Given the description of an element on the screen output the (x, y) to click on. 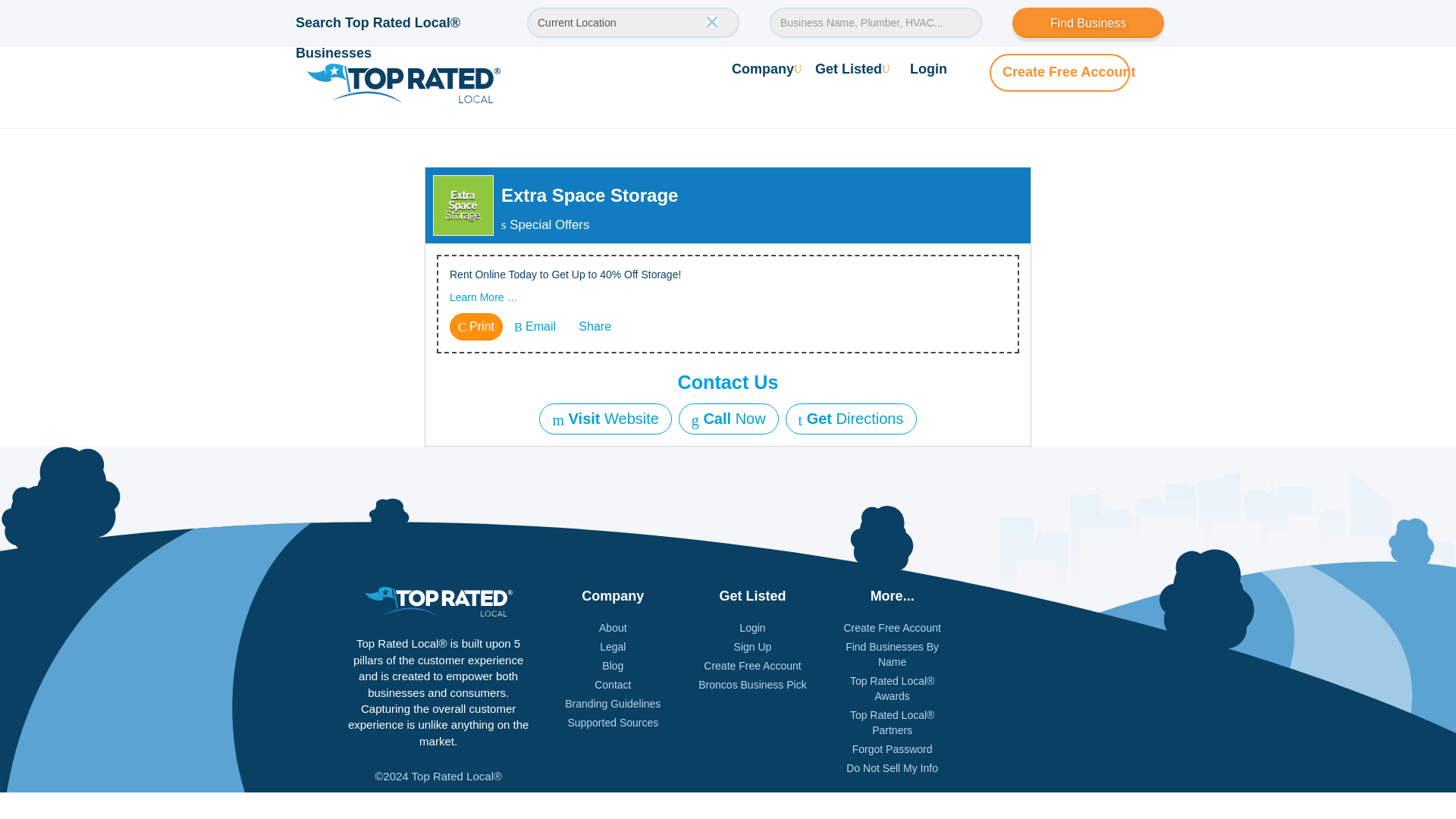
Email (534, 326)
Login (928, 68)
Current Location (633, 22)
Visit Website (604, 418)
Create Free Account (1069, 70)
Share (593, 326)
Find Business (1087, 22)
Get Directions (851, 418)
Print (475, 326)
Current Location (633, 22)
